Given the description of an element on the screen output the (x, y) to click on. 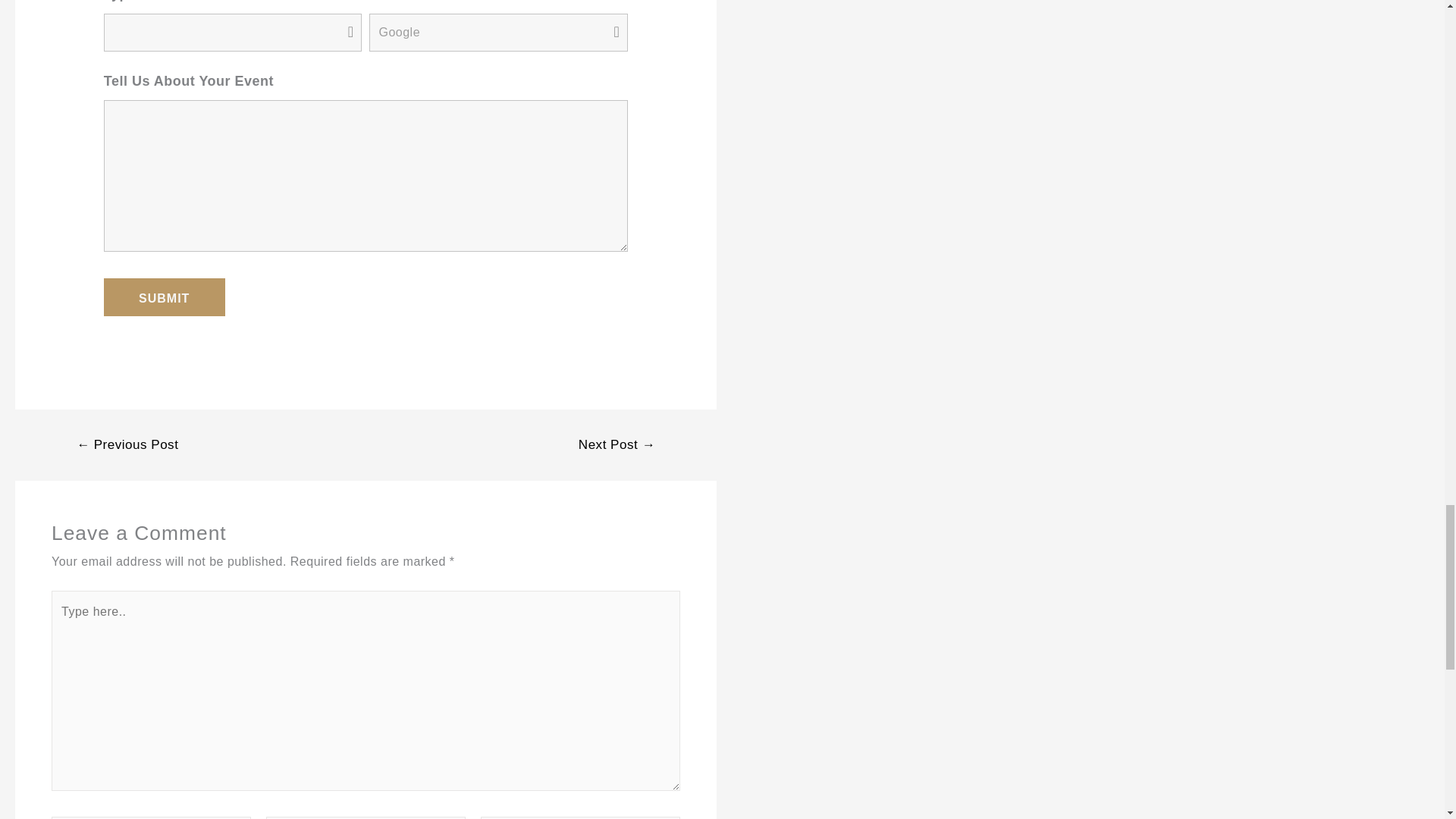
Submit (164, 297)
